Given the description of an element on the screen output the (x, y) to click on. 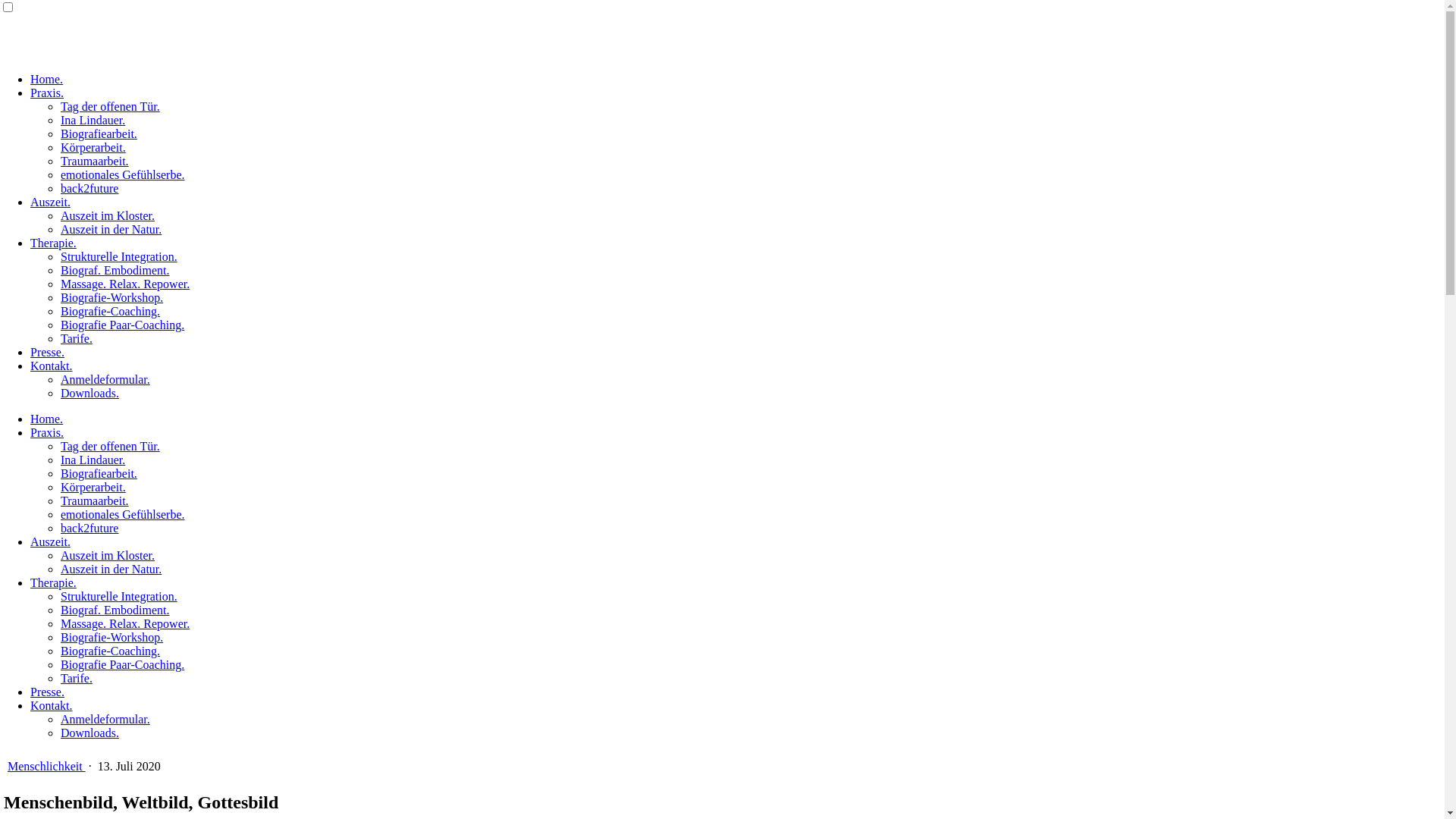
Biograf. Embodiment. Element type: text (114, 269)
Biografie Paar-Coaching. Element type: text (122, 664)
Tarife. Element type: text (76, 677)
Biograf. Embodiment. Element type: text (114, 609)
Tarife. Element type: text (76, 338)
back2future Element type: text (89, 527)
Presse. Element type: text (47, 691)
Traumaarbeit. Element type: text (94, 160)
Anmeldeformular. Element type: text (105, 718)
Home. Element type: text (46, 78)
Downloads. Element type: text (89, 392)
Auszeit. Element type: text (50, 541)
Strukturelle Integration. Element type: text (118, 256)
Home. Element type: text (46, 418)
Presse. Element type: text (47, 351)
Therapie. Element type: text (53, 242)
Biografie Paar-Coaching. Element type: text (122, 324)
Biografie-Workshop. Element type: text (111, 636)
Biografiearbeit. Element type: text (98, 473)
Therapie. Element type: text (53, 582)
Auszeit im Kloster. Element type: text (107, 215)
Massage. Relax. Repower. Element type: text (124, 623)
Kontakt. Element type: text (51, 365)
Anmeldeformular. Element type: text (105, 379)
Biografiearbeit. Element type: text (98, 133)
Downloads. Element type: text (89, 732)
Auszeit in der Natur. Element type: text (110, 568)
Ina Lindauer. Element type: text (92, 459)
Praxis. Element type: text (46, 92)
Biografie-Coaching. Element type: text (110, 310)
Praxis. Element type: text (46, 432)
Auszeit in der Natur. Element type: text (110, 228)
Kontakt. Element type: text (51, 705)
Auszeit. Element type: text (50, 201)
Strukturelle Integration. Element type: text (118, 595)
Biografie-Workshop. Element type: text (111, 297)
Ina Lindauer. Element type: text (92, 119)
Menschlichkeit Element type: text (46, 765)
Biografie-Coaching. Element type: text (110, 650)
Auszeit im Kloster. Element type: text (107, 555)
Massage. Relax. Repower. Element type: text (124, 283)
Traumaarbeit. Element type: text (94, 500)
back2future Element type: text (89, 188)
